Given the description of an element on the screen output the (x, y) to click on. 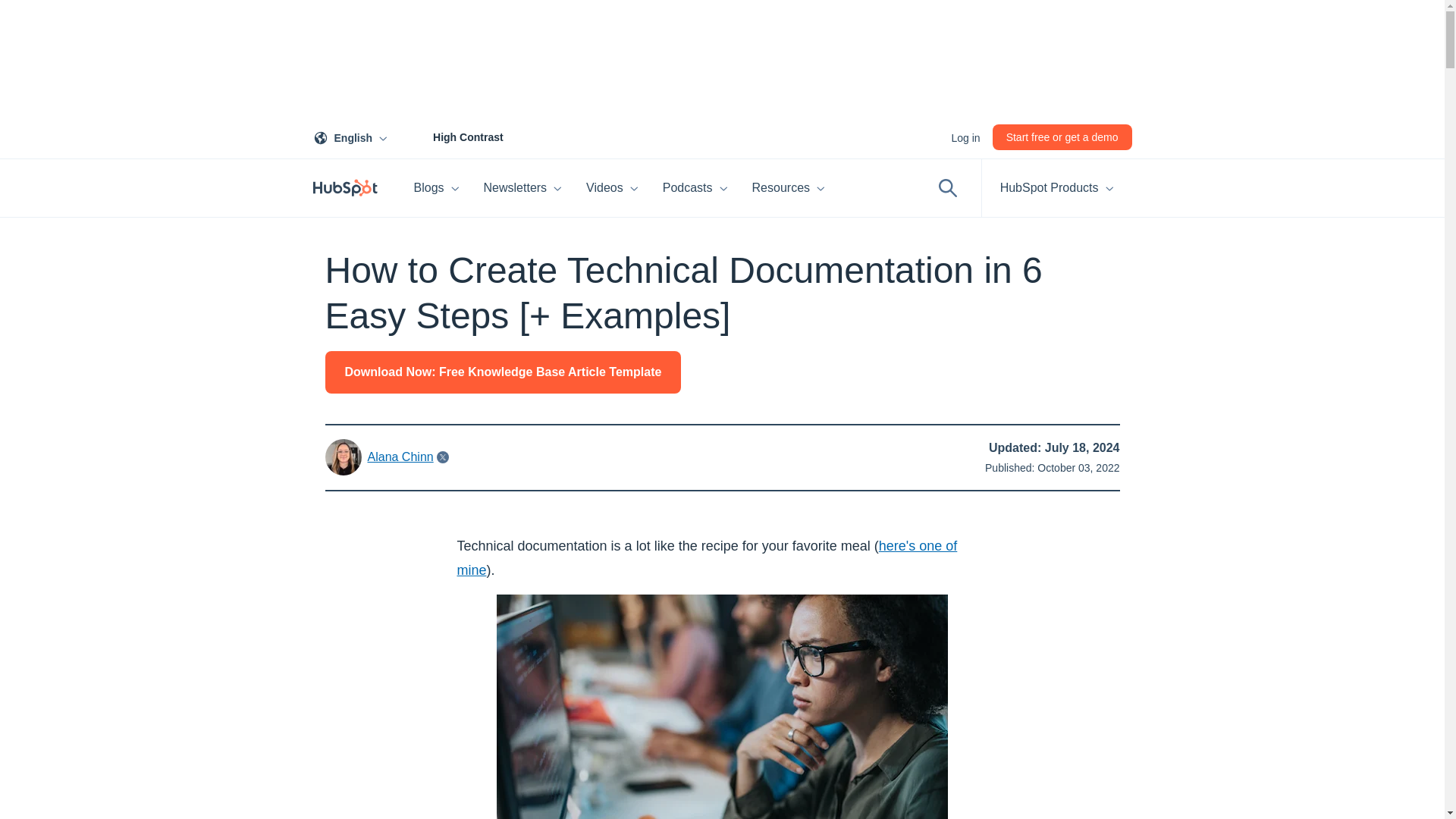
Log in (964, 137)
Start free or get a demo (353, 136)
Videos (1062, 136)
High Contrast (611, 187)
Newsletters (450, 137)
Blogs (523, 187)
